Given the description of an element on the screen output the (x, y) to click on. 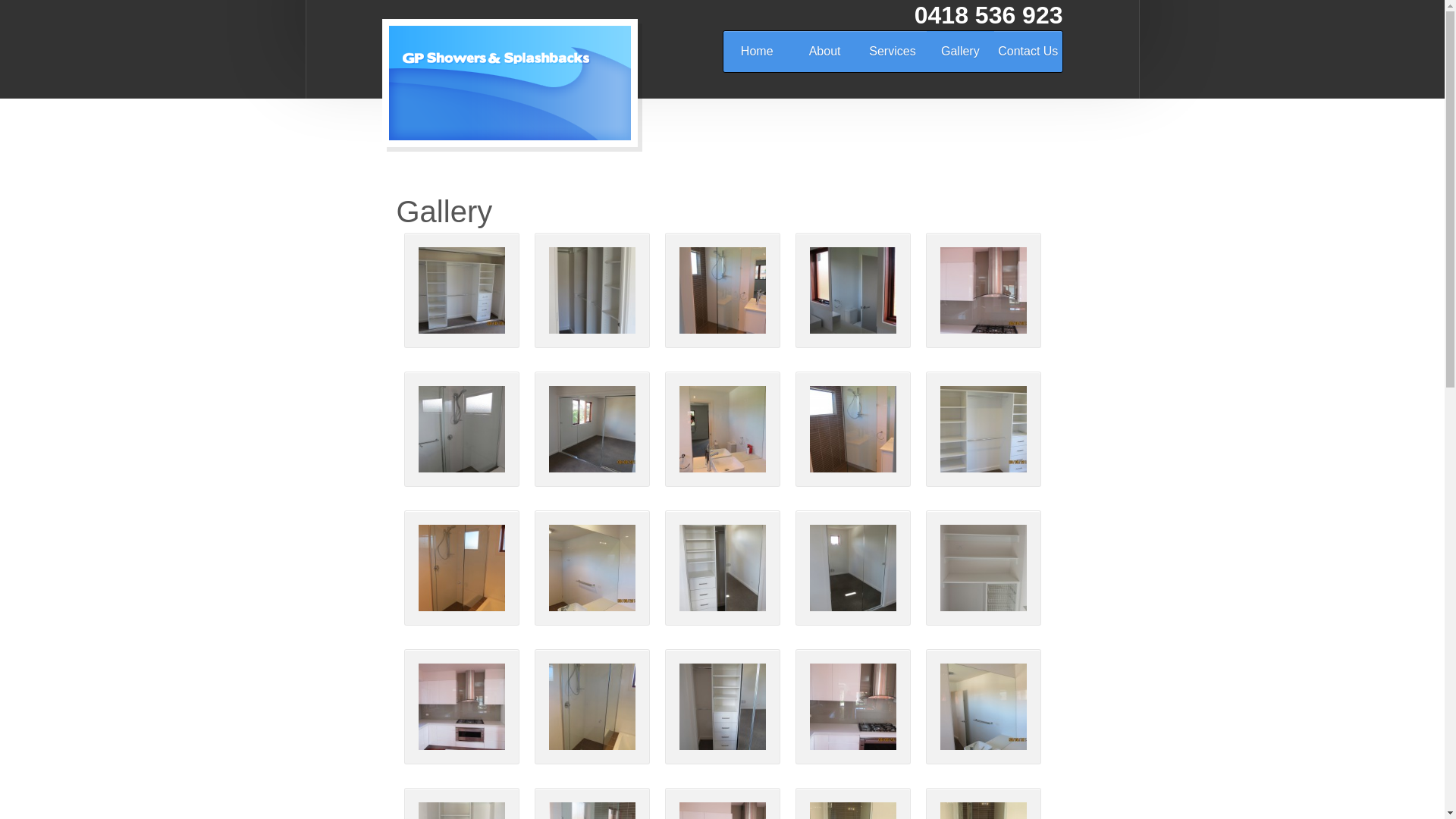
Services Element type: text (891, 51)
Gallery Element type: text (960, 51)
Home Element type: text (756, 51)
Contact Us Element type: text (1027, 51)
About Element type: text (824, 51)
